Given the description of an element on the screen output the (x, y) to click on. 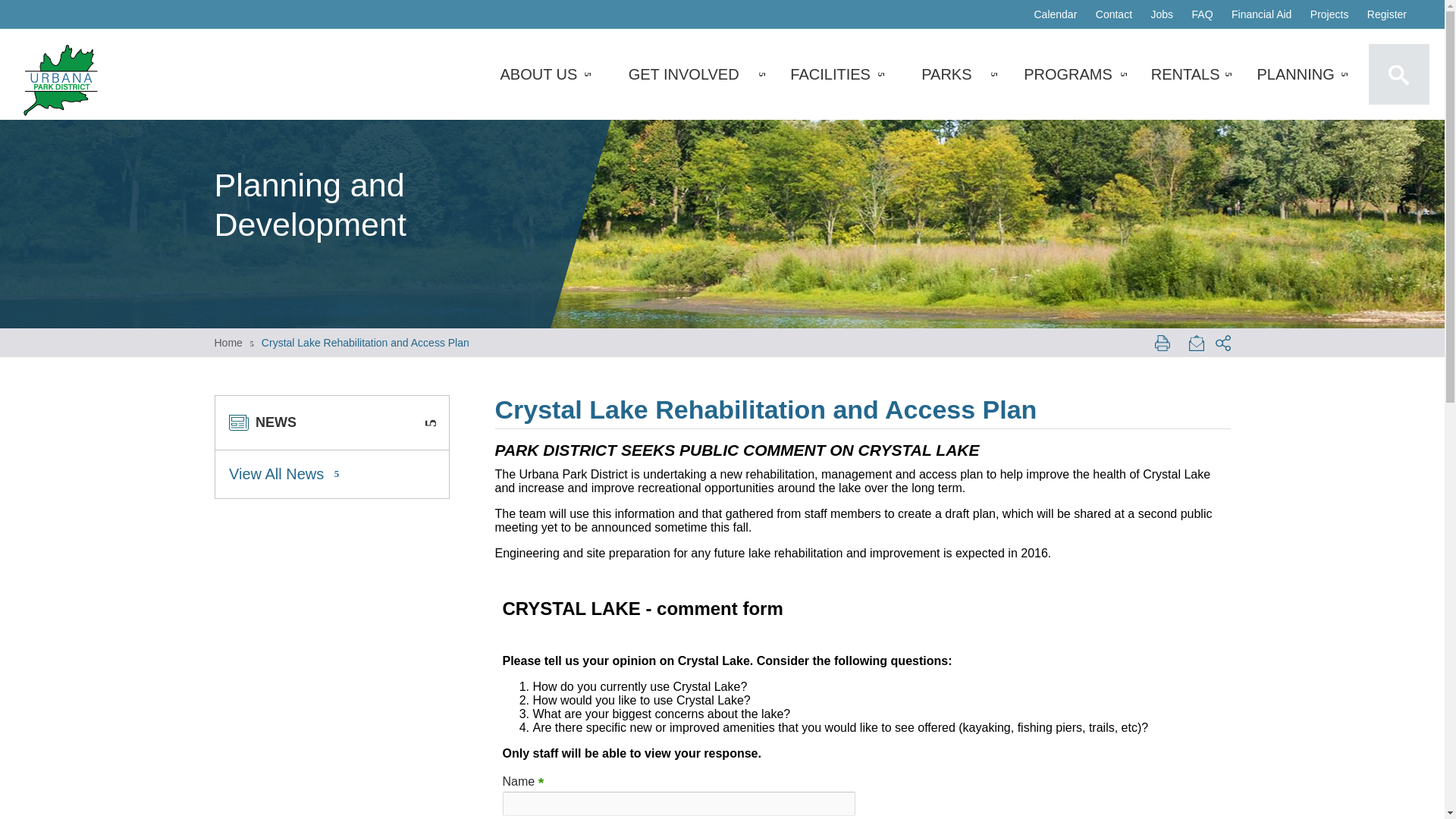
ABOUT US (537, 73)
Search (1398, 74)
FAQ (1203, 14)
GET INVOLVED (683, 73)
Register (1386, 14)
FACILITIES (830, 73)
Projects (1329, 14)
Jobs (1161, 14)
Contact (1113, 14)
Calendar (1055, 14)
Financial Aid (1261, 14)
